Given the description of an element on the screen output the (x, y) to click on. 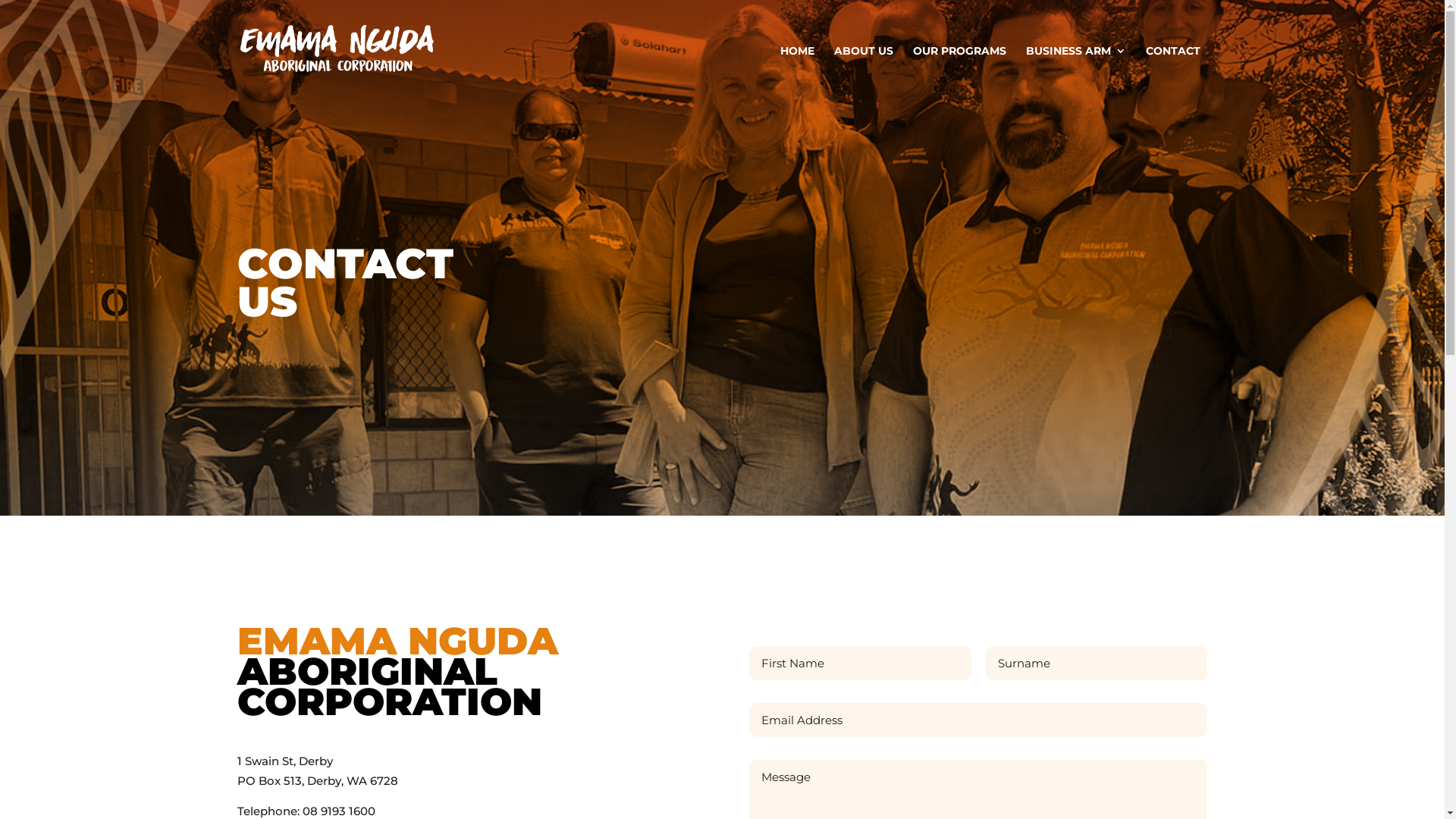
HOME Element type: text (796, 71)
OUR PROGRAMS Element type: text (959, 71)
BUSINESS ARM Element type: text (1075, 71)
ABOUT US Element type: text (863, 71)
CONTACT Element type: text (1172, 71)
